Given the description of an element on the screen output the (x, y) to click on. 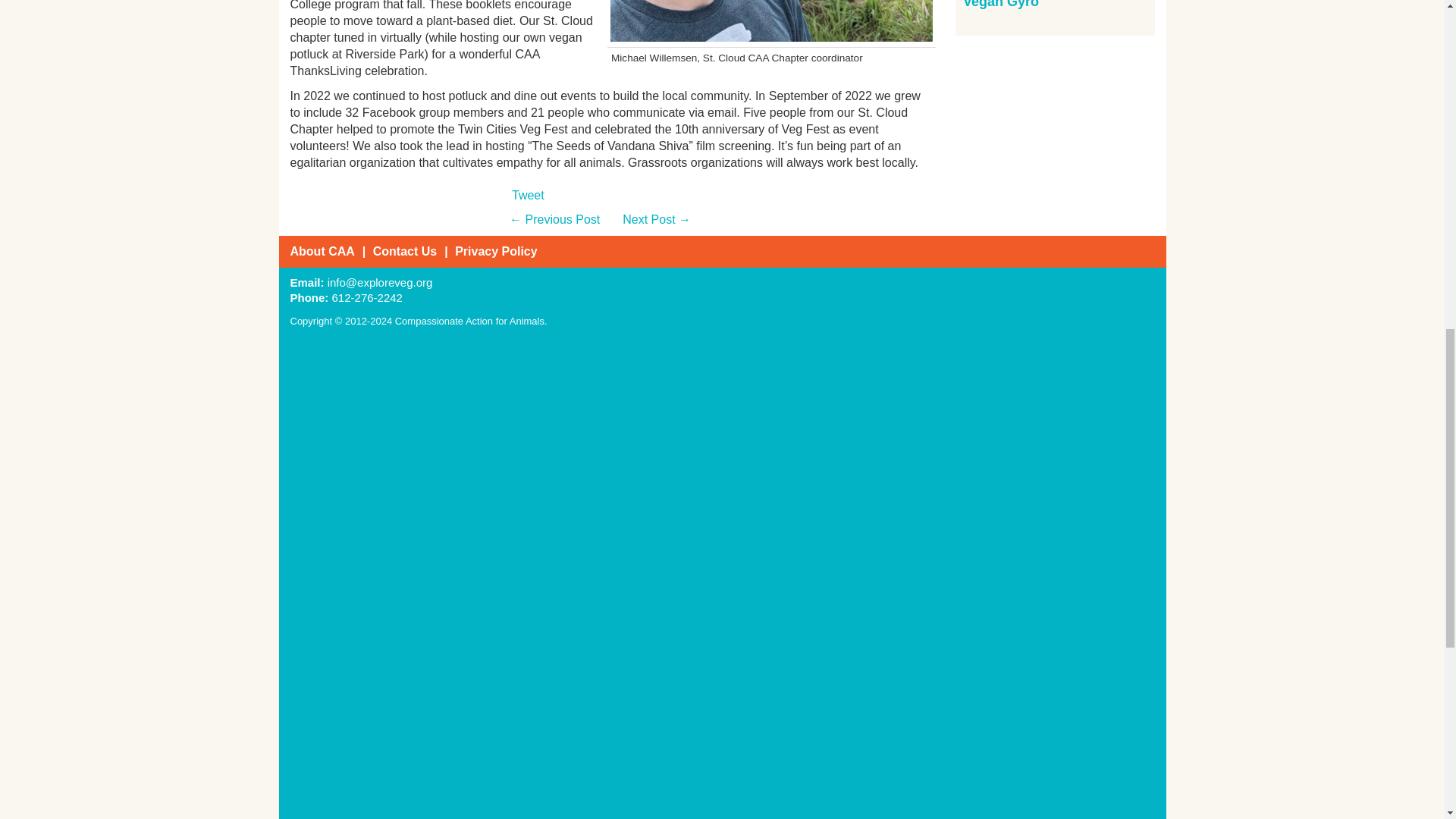
Privacy Policy (495, 250)
Tweet (528, 195)
Contact Us (404, 250)
Cooking With Tamuno: Vegan Gyro (1036, 4)
About CAA (321, 250)
